Given the description of an element on the screen output the (x, y) to click on. 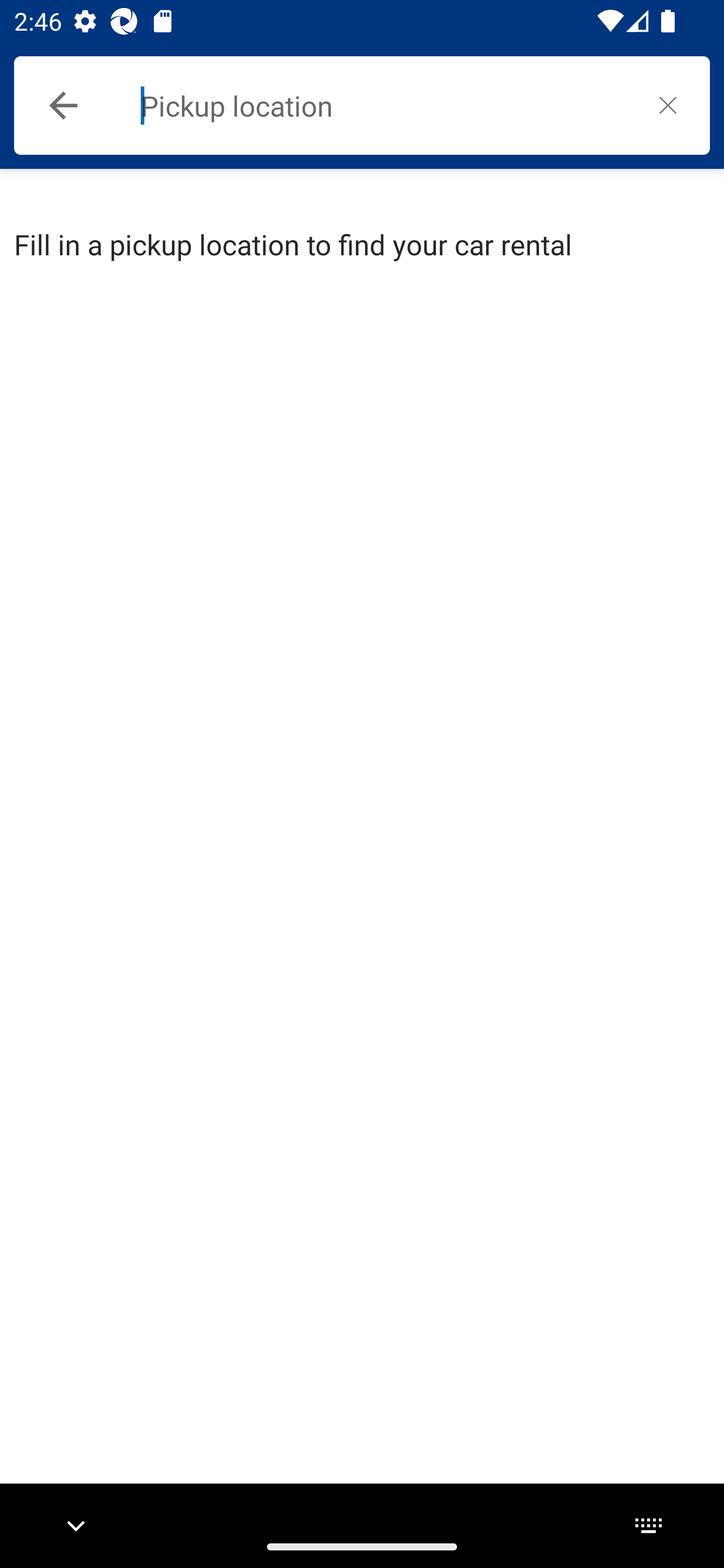
Navigate up (62, 105)
놕 (667, 104)
Pickup location (382, 105)
